Given the description of an element on the screen output the (x, y) to click on. 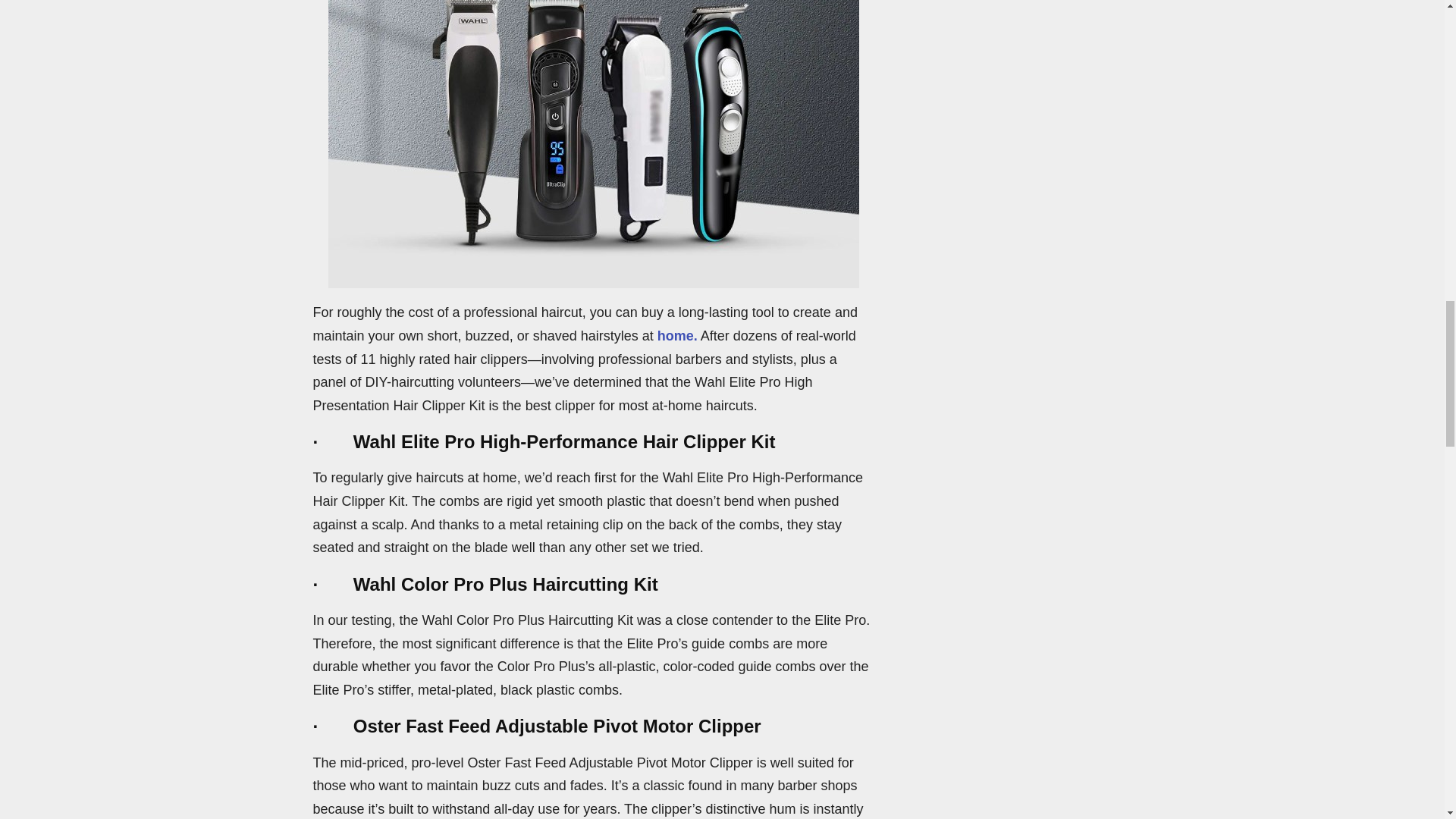
home. (677, 335)
